Given the description of an element on the screen output the (x, y) to click on. 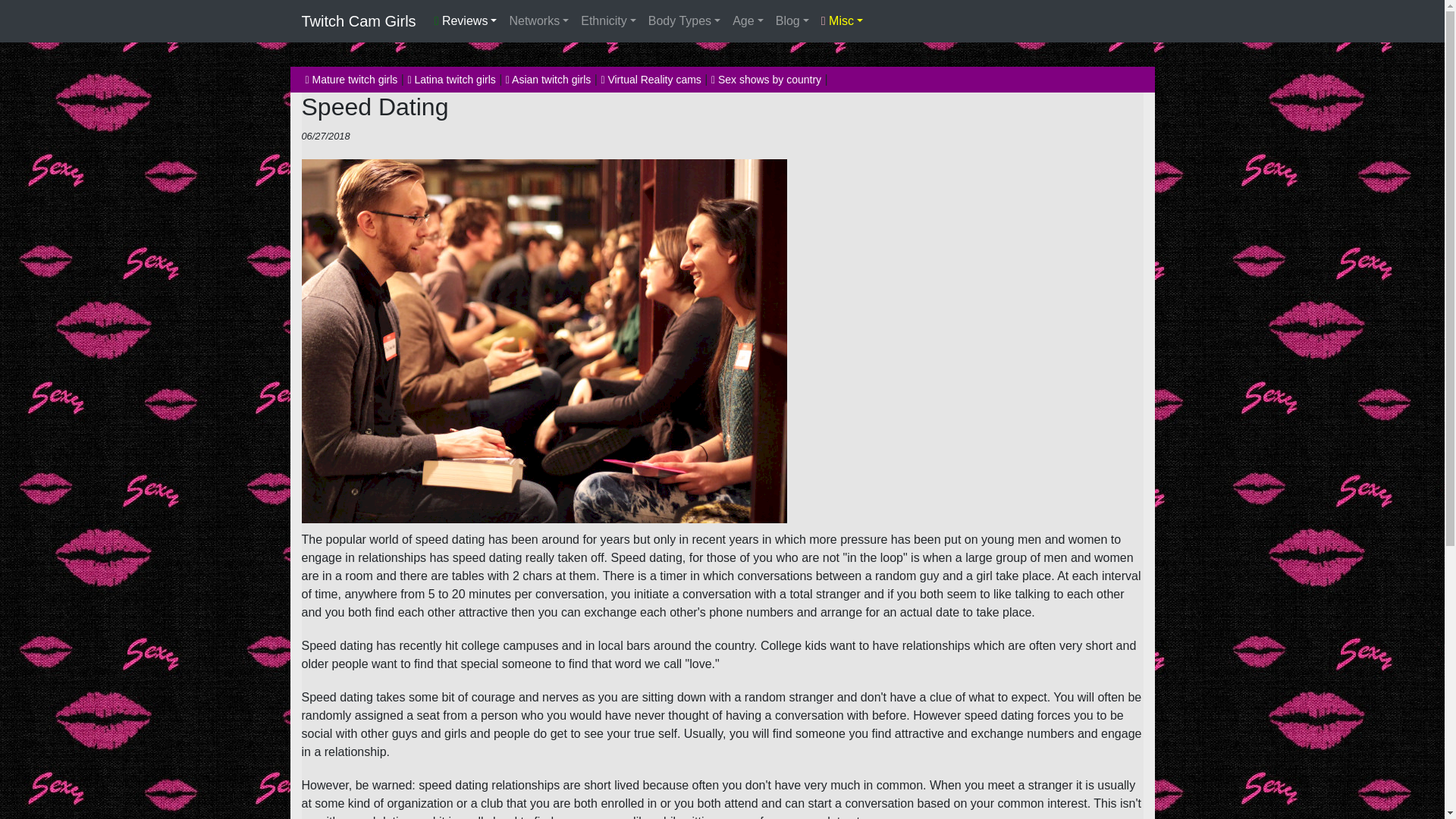
Ethnicity (608, 20)
mature twitch girls (350, 79)
Twitch Cam Girls (358, 20)
asian twitch girls (548, 79)
Body Types (684, 20)
Age (748, 20)
live sex shows by country (766, 79)
latina twitch girls (451, 79)
Reviews (465, 20)
Blog (792, 20)
vr twitch girls (649, 79)
Networks (538, 20)
